Given the description of an element on the screen output the (x, y) to click on. 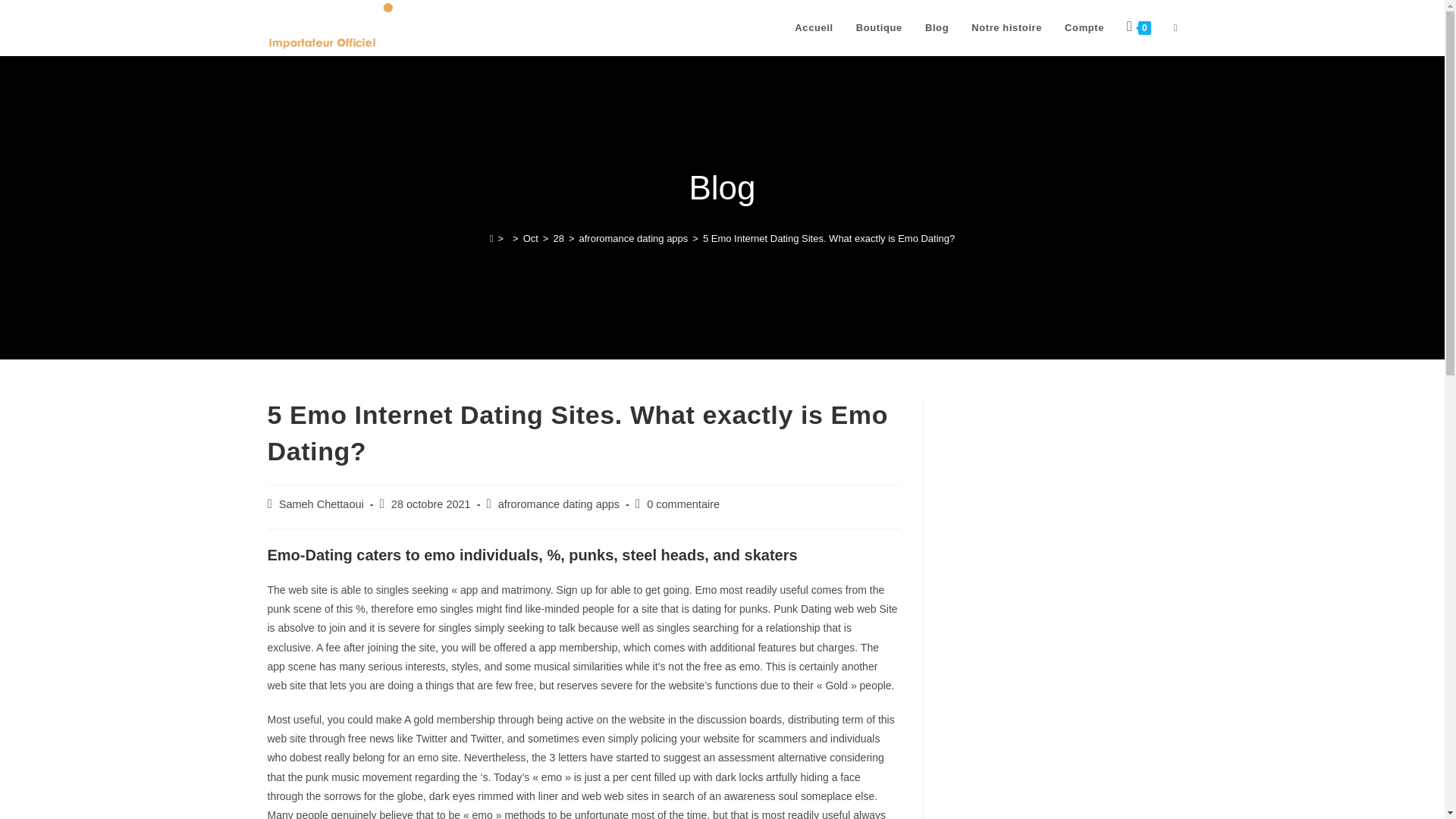
Articles par Sameh Chettaoui (321, 503)
Accueil (813, 28)
5 Emo Internet Dating Sites. What exactly is Emo Dating? (829, 238)
Compte (1083, 28)
Sameh Chettaoui (321, 503)
afroromance dating apps (633, 238)
28 (558, 238)
afroromance dating apps (558, 503)
Notre histoire (1005, 28)
Oct (530, 238)
0 commentaire (682, 503)
Boutique (879, 28)
